Given the description of an element on the screen output the (x, y) to click on. 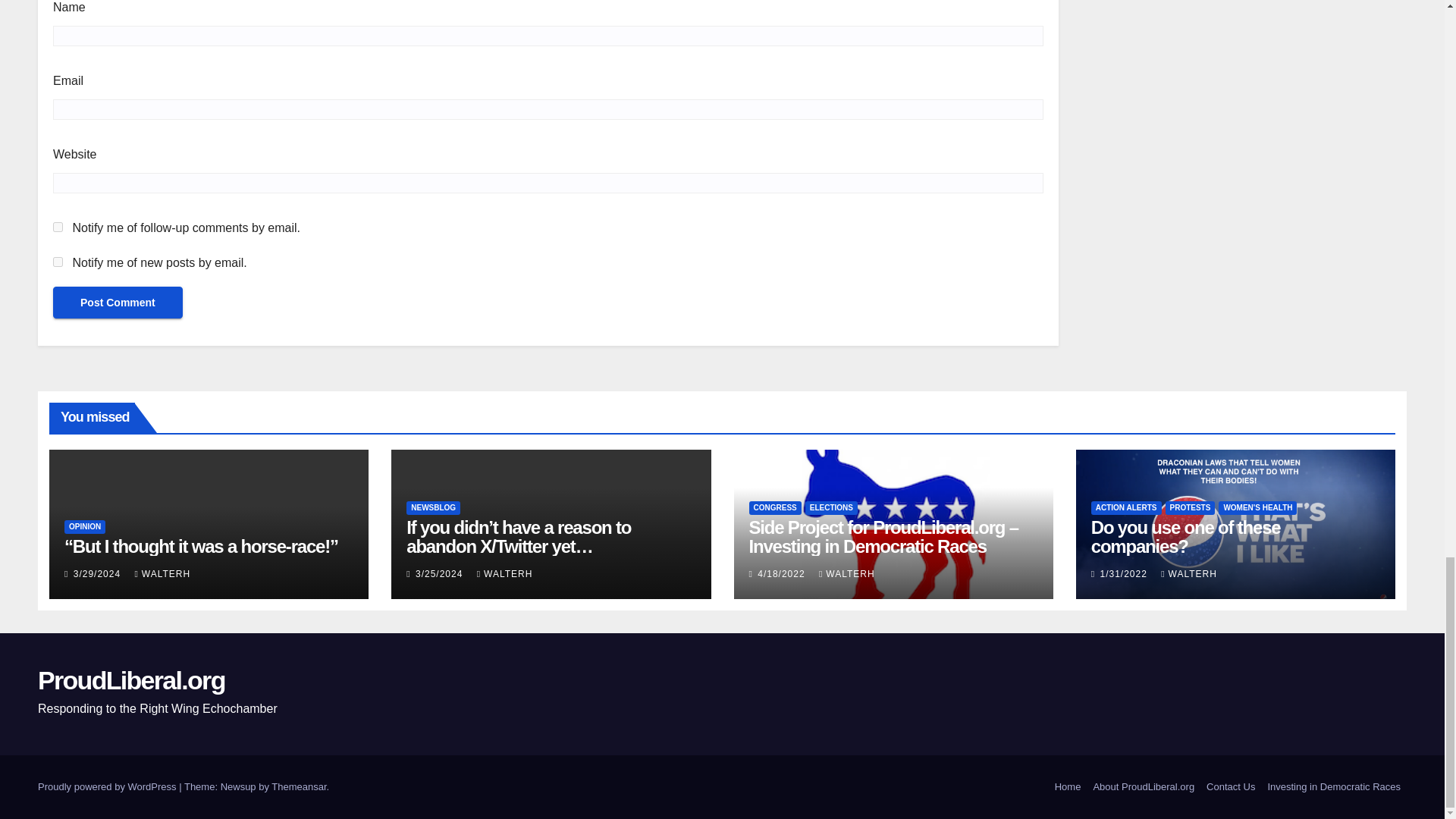
subscribe (57, 226)
Post Comment (117, 302)
subscribe (57, 261)
